Given the description of an element on the screen output the (x, y) to click on. 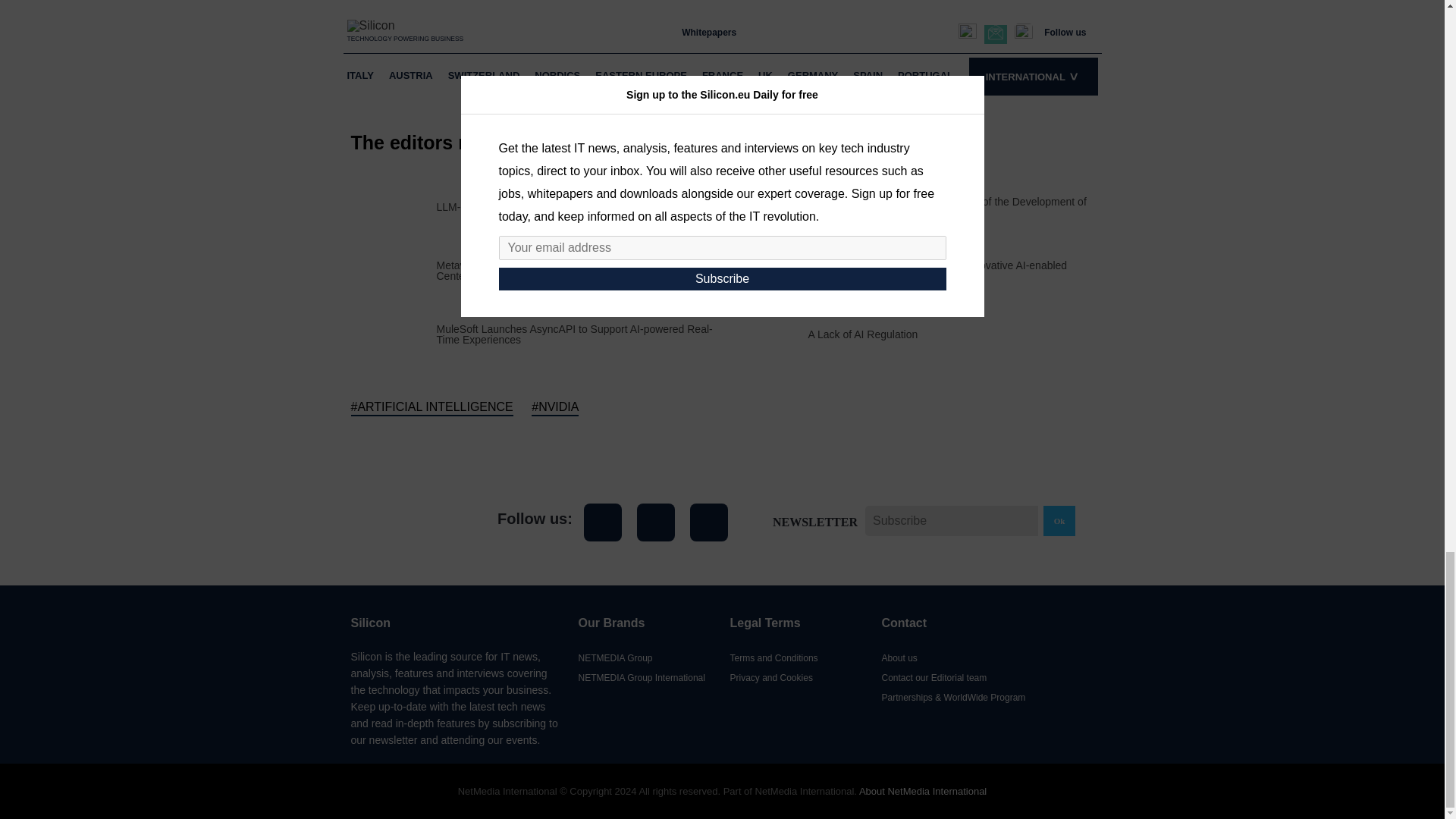
LLM-Benchmark for CRM (496, 206)
A Lack of AI Regulation (863, 334)
Silicon (408, 521)
